Given the description of an element on the screen output the (x, y) to click on. 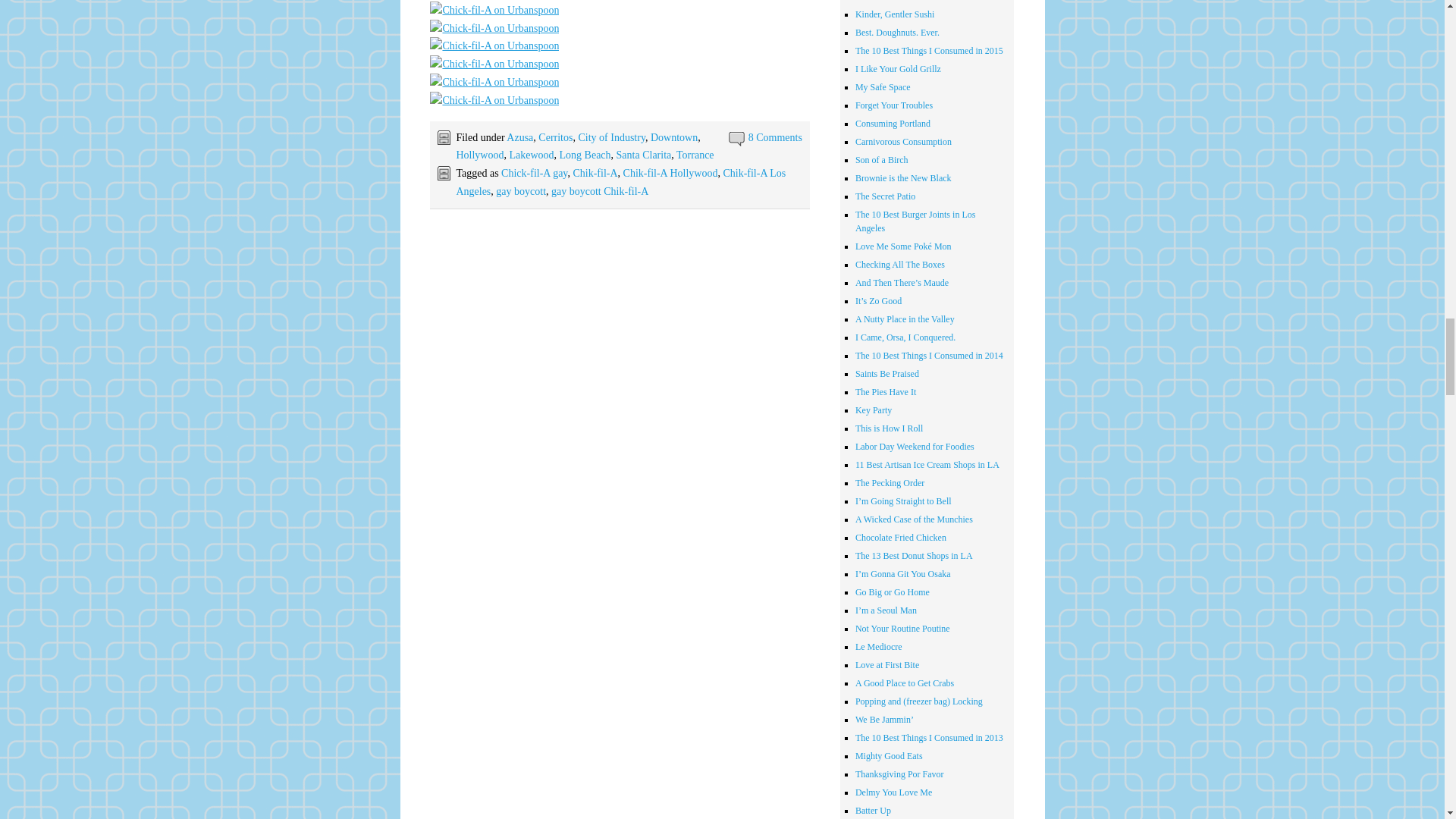
City of Industry (611, 137)
8 Comments (775, 137)
Cerritos (555, 137)
Azusa (519, 137)
